Given the description of an element on the screen output the (x, y) to click on. 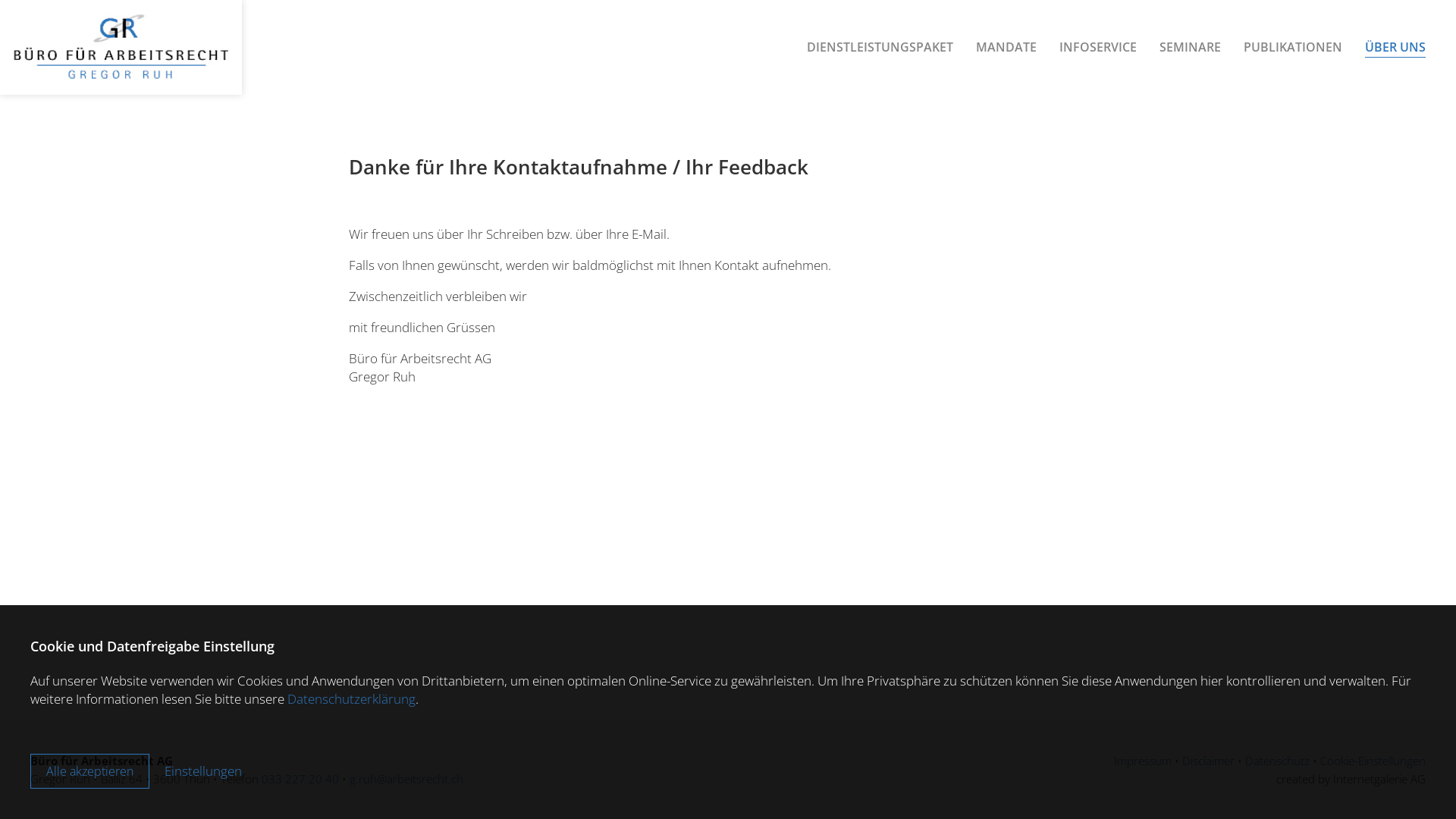
Alle akzeptieren Element type: text (89, 770)
Disclaimer Element type: text (1208, 760)
033 227 20 40 Element type: text (299, 778)
Datenschutz Element type: text (1277, 760)
g.ruharbeitsrecht.ch Element type: text (406, 778)
created by Internetgalerie AG Element type: text (1350, 778)
MANDATE Element type: text (1005, 47)
INFOSERVICE Element type: text (1097, 47)
Cookie-Einstellungen Element type: text (1372, 760)
SEMINARE Element type: text (1189, 47)
DIENSTLEISTUNGSPAKET Element type: text (879, 47)
PUBLIKATIONEN Element type: text (1292, 47)
Impressum Element type: text (1142, 760)
Einstellungen Element type: text (202, 771)
